Given the description of an element on the screen output the (x, y) to click on. 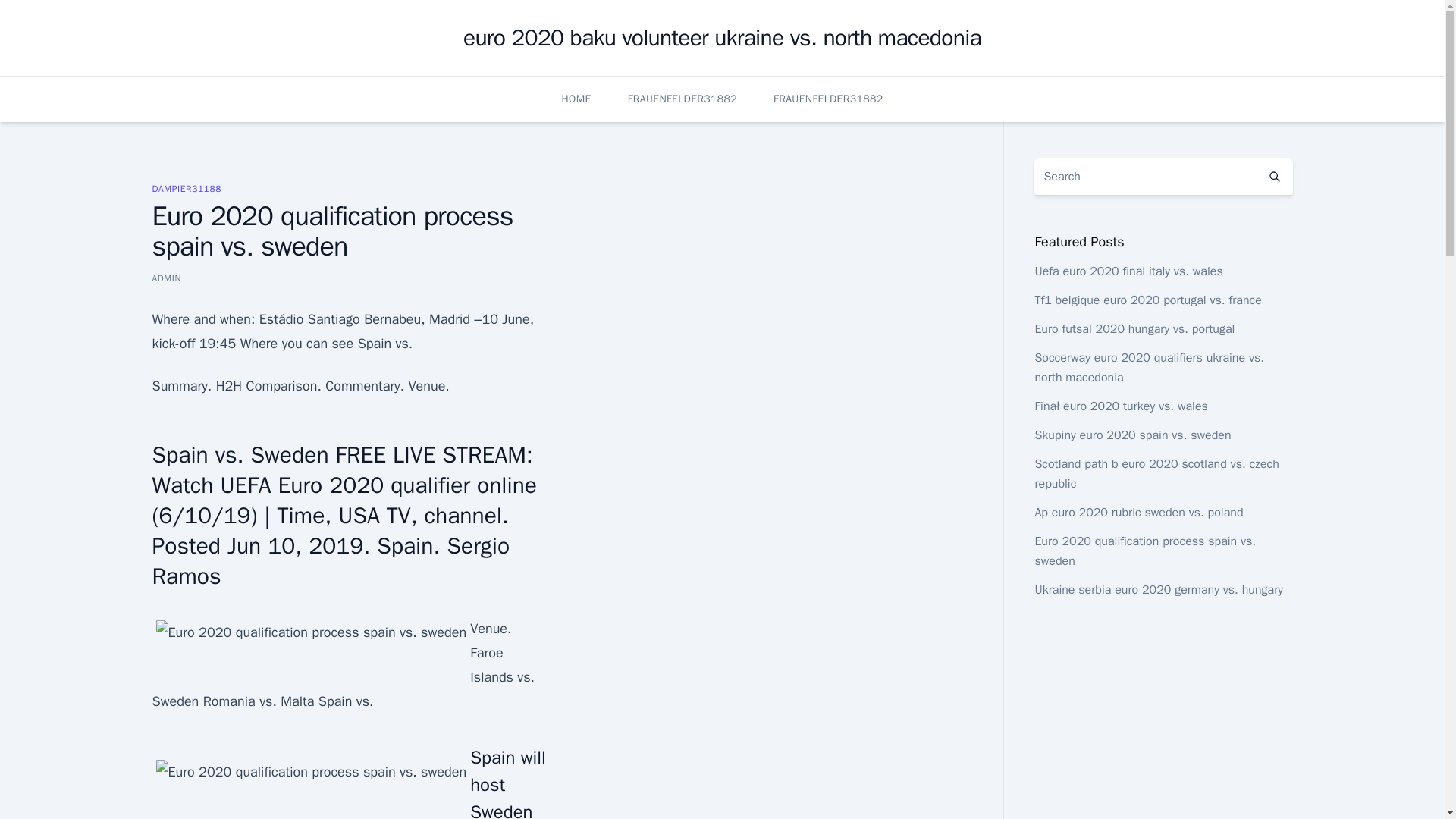
DAMPIER31188 (186, 188)
Ap euro 2020 rubric sweden vs. poland (1138, 512)
Soccerway euro 2020 qualifiers ukraine vs. north macedonia (1148, 367)
Euro futsal 2020 hungary vs. portugal (1133, 328)
euro 2020 baku volunteer ukraine vs. north macedonia (722, 37)
FRAUENFELDER31882 (827, 99)
FRAUENFELDER31882 (681, 99)
Skupiny euro 2020 spain vs. sweden (1131, 435)
ADMIN (165, 277)
Scotland path b euro 2020 scotland vs. czech republic (1155, 473)
Uefa euro 2020 final italy vs. wales (1128, 271)
Tf1 belgique euro 2020 portugal vs. france (1146, 299)
